Given the description of an element on the screen output the (x, y) to click on. 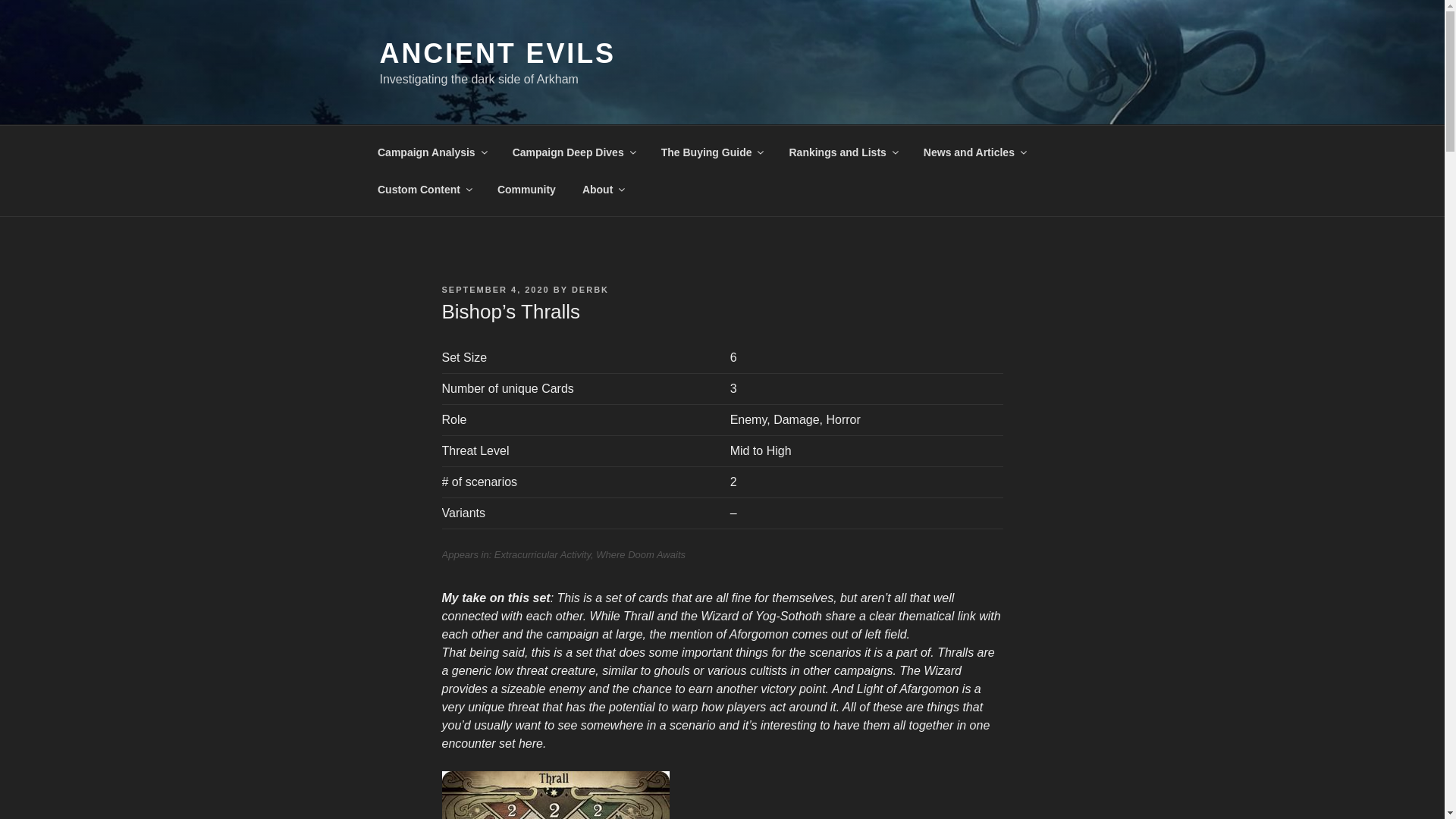
Campaign Deep Dives (573, 151)
ANCIENT EVILS (496, 52)
The Buying Guide (711, 151)
Campaign Analysis (431, 151)
